Given the description of an element on the screen output the (x, y) to click on. 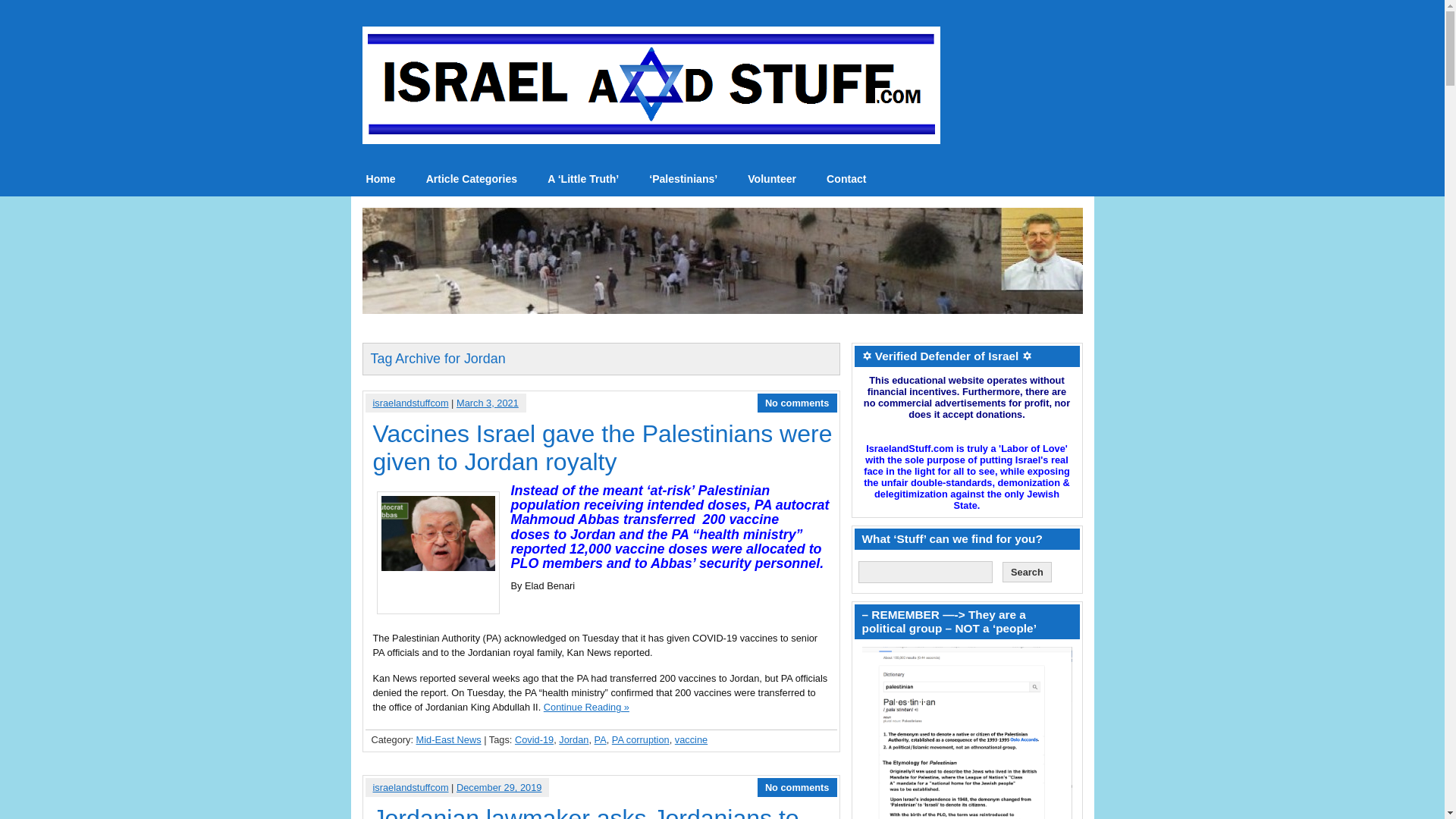
No comments (797, 402)
March 3, 2021 (487, 402)
Posts by israelandstuffcom (410, 787)
israelandstuffcom (410, 402)
Posts by israelandstuffcom (410, 402)
Article Categories (471, 178)
Volunteer (771, 178)
news (380, 178)
Search (1027, 571)
Contact (845, 178)
Home (380, 178)
Mid-East News (448, 739)
